Given the description of an element on the screen output the (x, y) to click on. 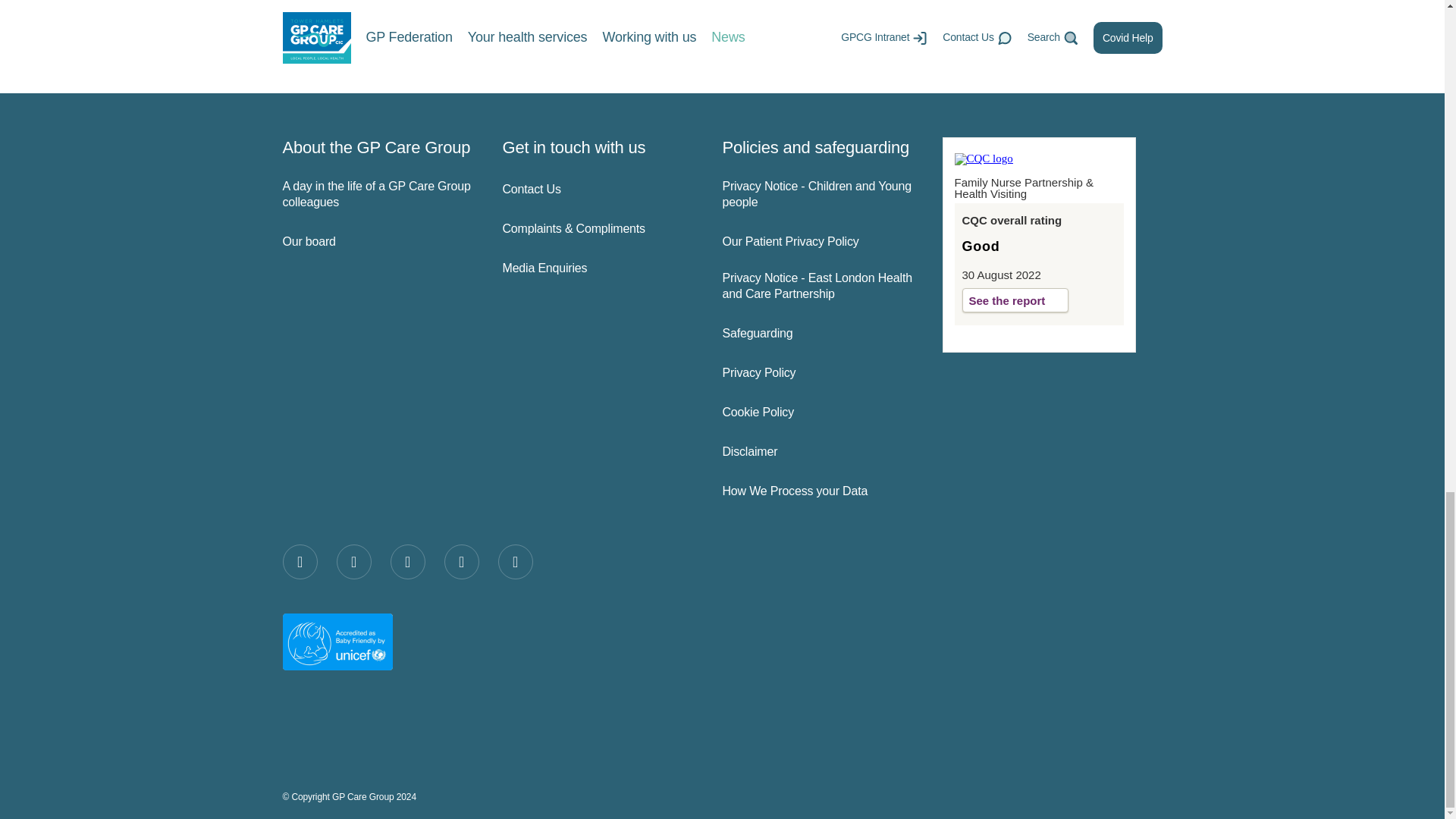
Facebook (299, 561)
Privacy Notice - Children and Young people (818, 194)
LinkedIn (461, 561)
A day in the life of a GP Care Group colleagues (379, 194)
CQC Logo (982, 158)
Twitter (353, 561)
Disclaimer (818, 452)
LinkedIn (461, 561)
Youtube (514, 561)
See the report (1014, 300)
Twitter (353, 561)
Our Patient Privacy Policy (818, 242)
Instagram (407, 561)
Our board (379, 242)
Privacy Policy (818, 373)
